Given the description of an element on the screen output the (x, y) to click on. 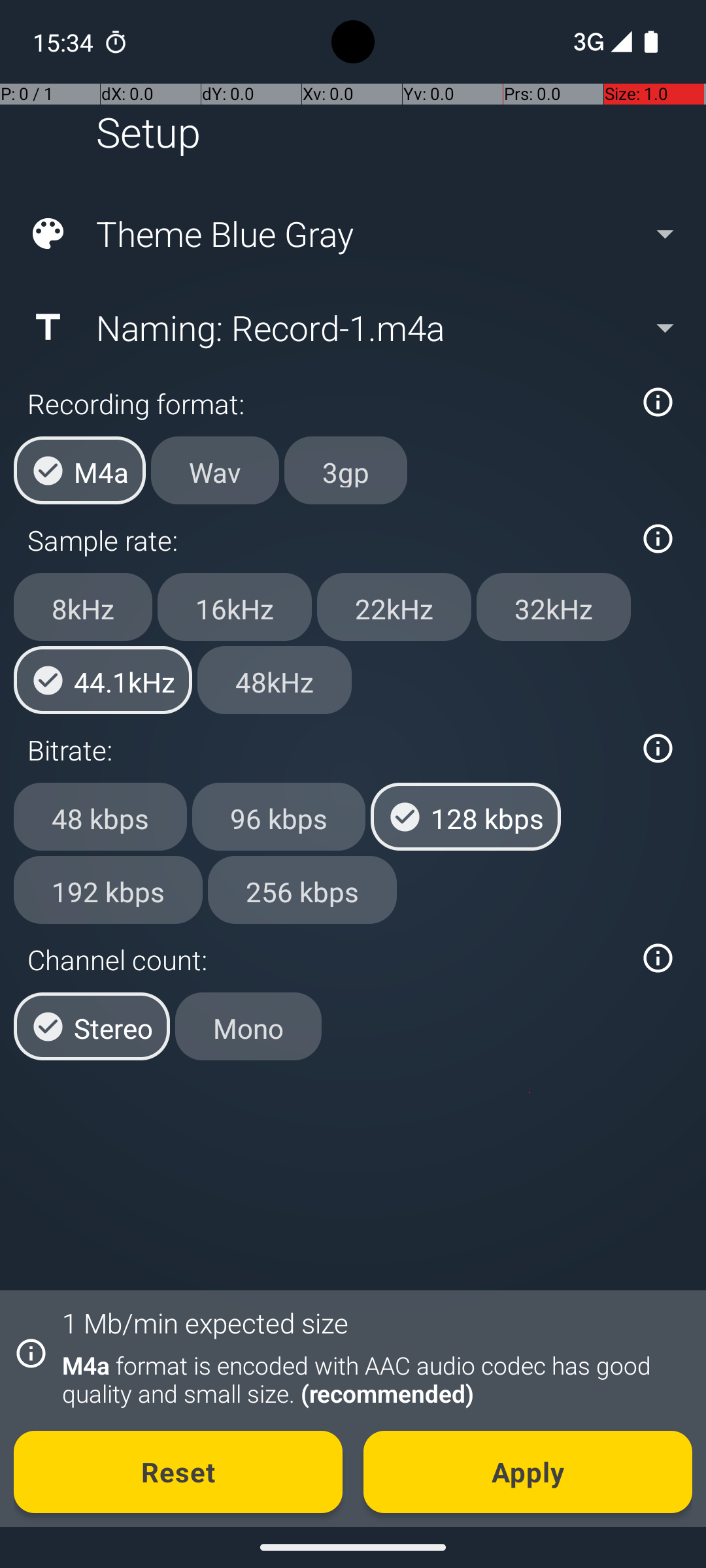
3G Element type: android.widget.ImageView (587, 41)
